Given the description of an element on the screen output the (x, y) to click on. 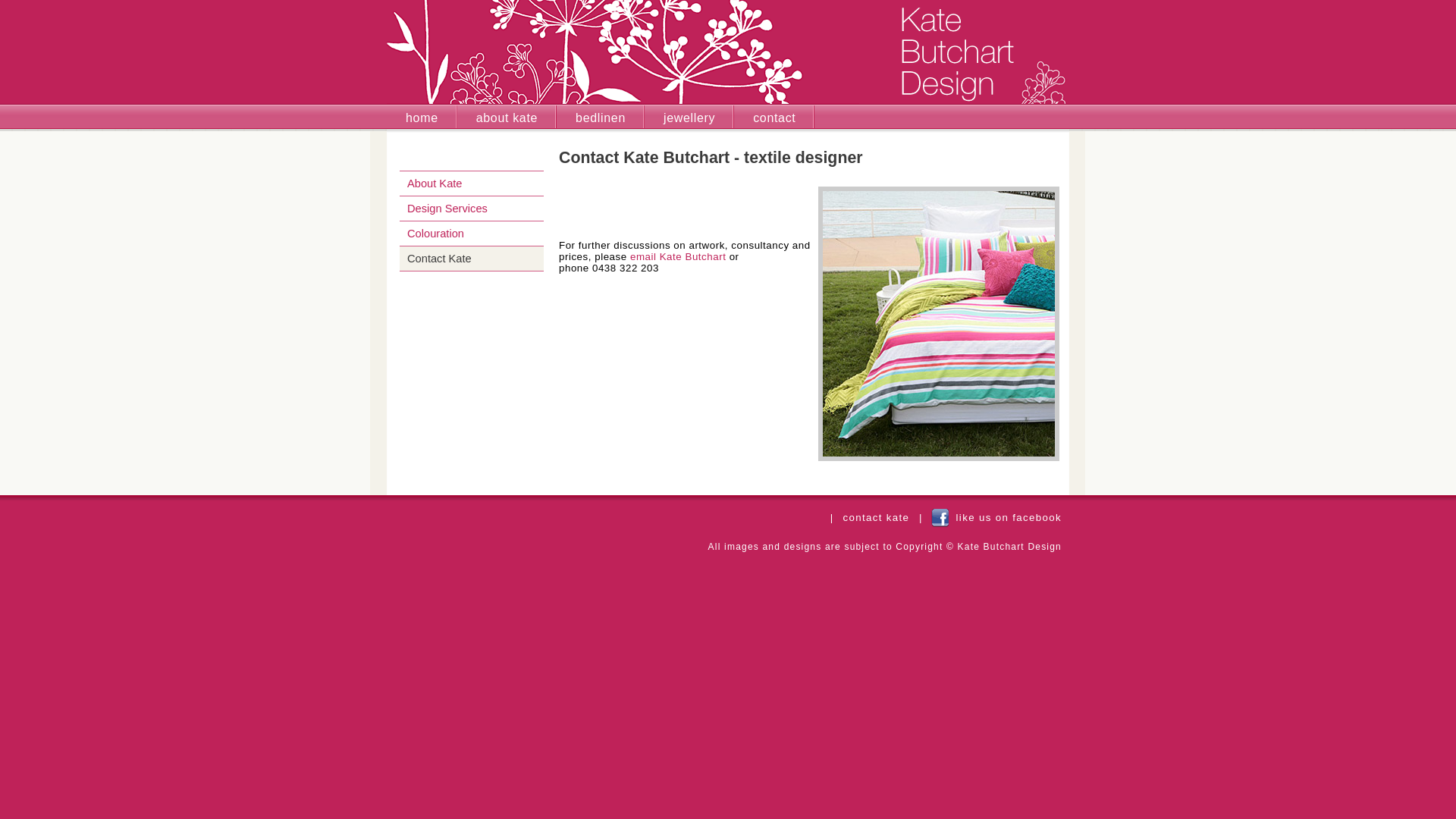
contact Element type: text (774, 117)
email Kate Butchart Element type: text (677, 256)
about kate Element type: text (506, 117)
home Element type: text (421, 117)
like us on facebook Element type: text (994, 517)
Contact Kate Element type: text (471, 258)
Colouration Element type: text (471, 233)
Design Services Element type: text (471, 208)
About Kate Element type: text (471, 183)
contact kate Element type: text (875, 517)
jewellery Element type: text (689, 117)
bedlinen Element type: text (600, 117)
